Given the description of an element on the screen output the (x, y) to click on. 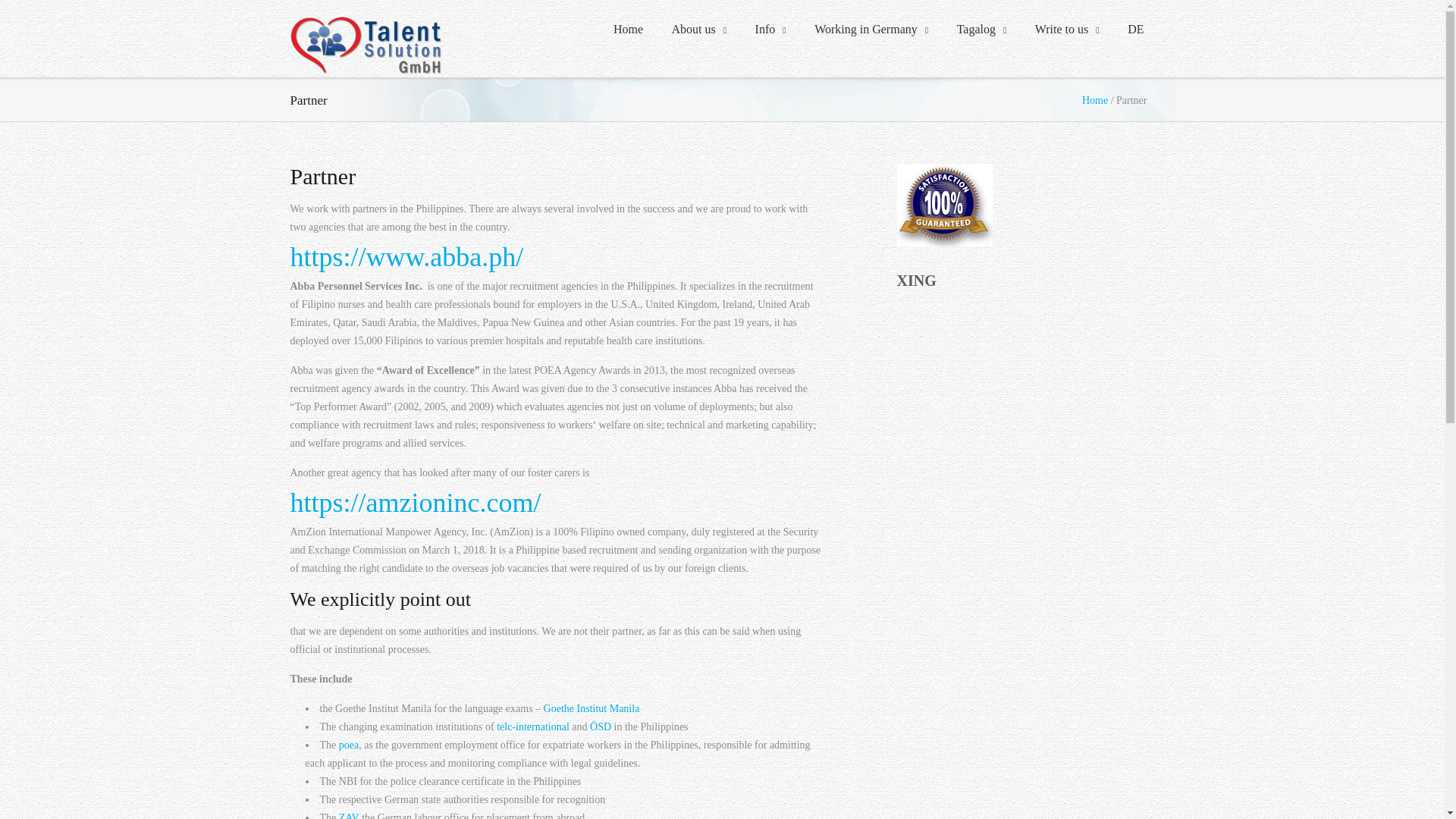
Working in Germany (870, 30)
Write to us (1066, 30)
Tagalog (980, 30)
About us (697, 30)
